Given the description of an element on the screen output the (x, y) to click on. 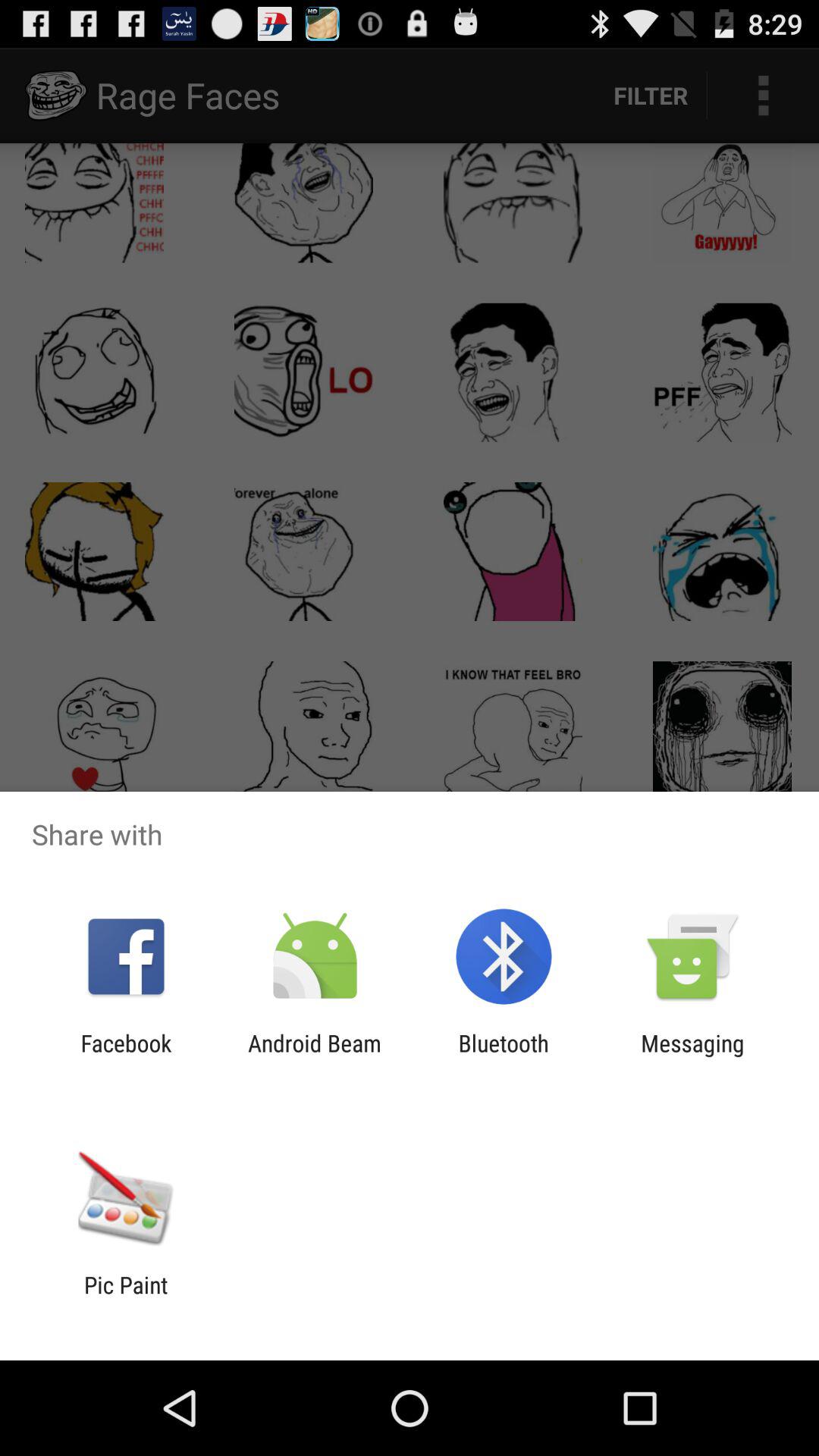
press icon at the bottom right corner (692, 1056)
